Given the description of an element on the screen output the (x, y) to click on. 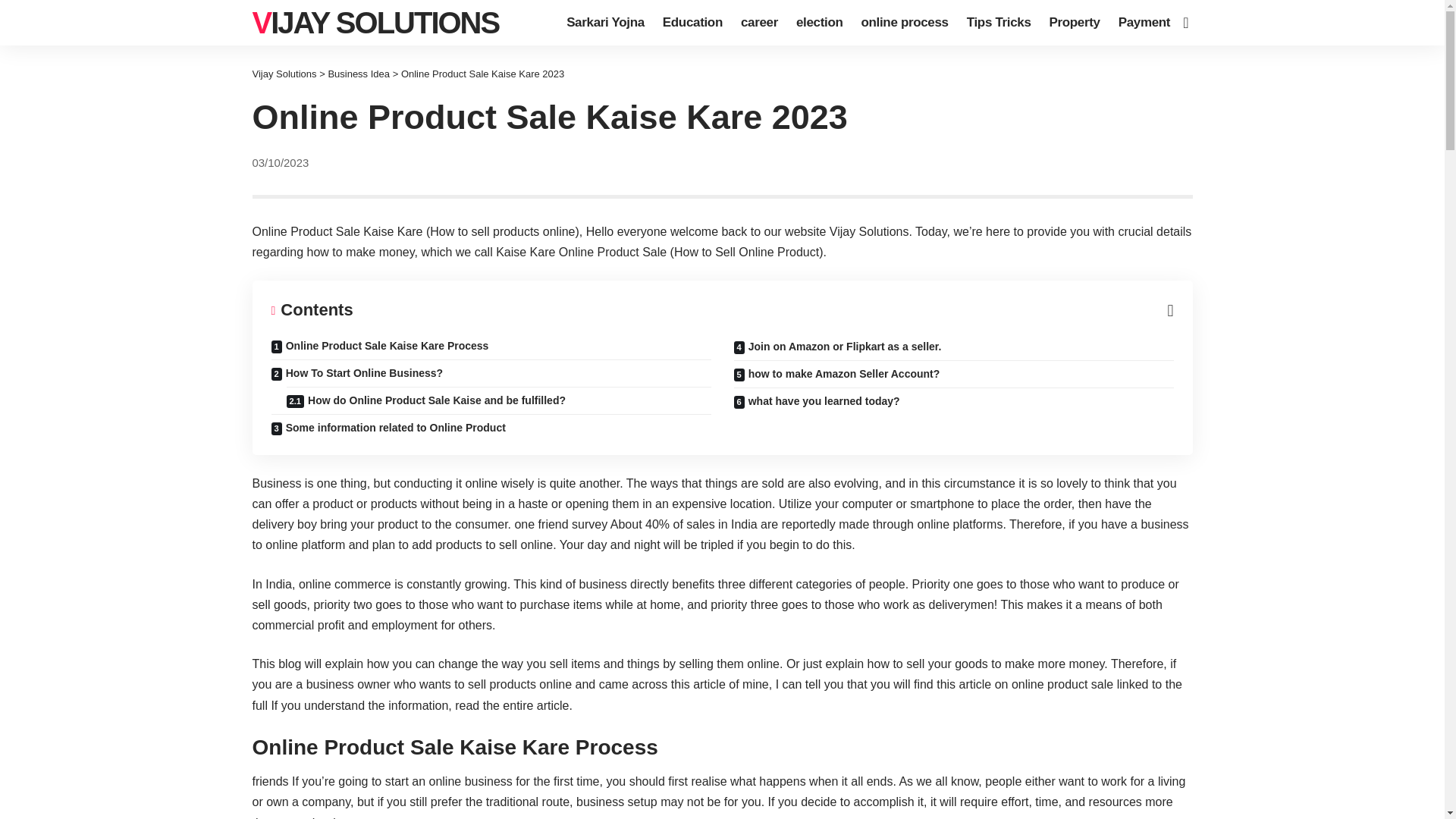
career (759, 22)
election (819, 22)
Vijay Solutions (283, 73)
Go to Vijay Solutions. (283, 73)
Vijay Solutions (375, 22)
VIJAY SOLUTIONS (375, 22)
Some information related to Online Product (490, 427)
Education (692, 22)
Payment (1144, 22)
Tips Tricks (999, 22)
